Given the description of an element on the screen output the (x, y) to click on. 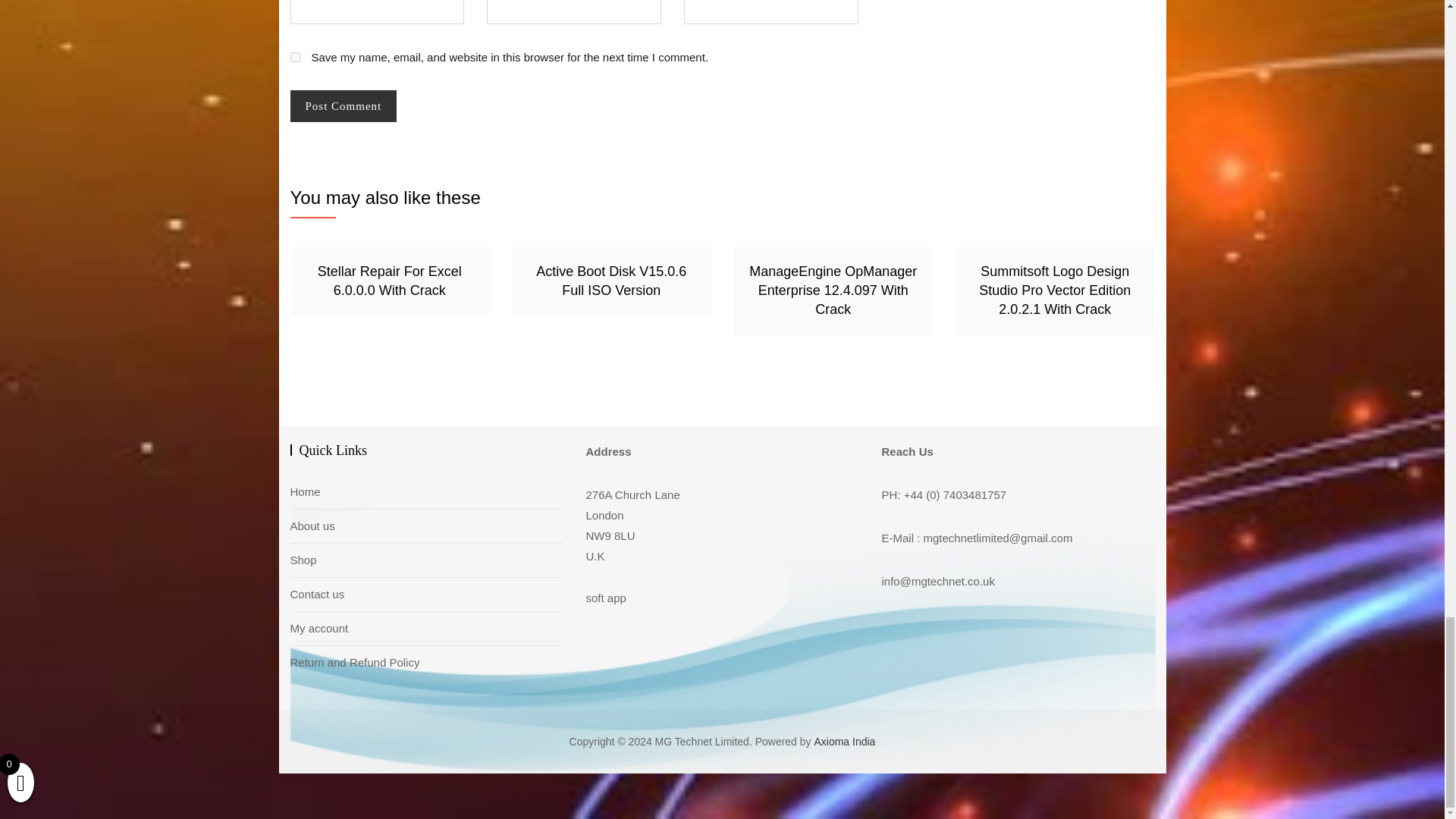
yes (294, 57)
Post Comment (342, 106)
